Given the description of an element on the screen output the (x, y) to click on. 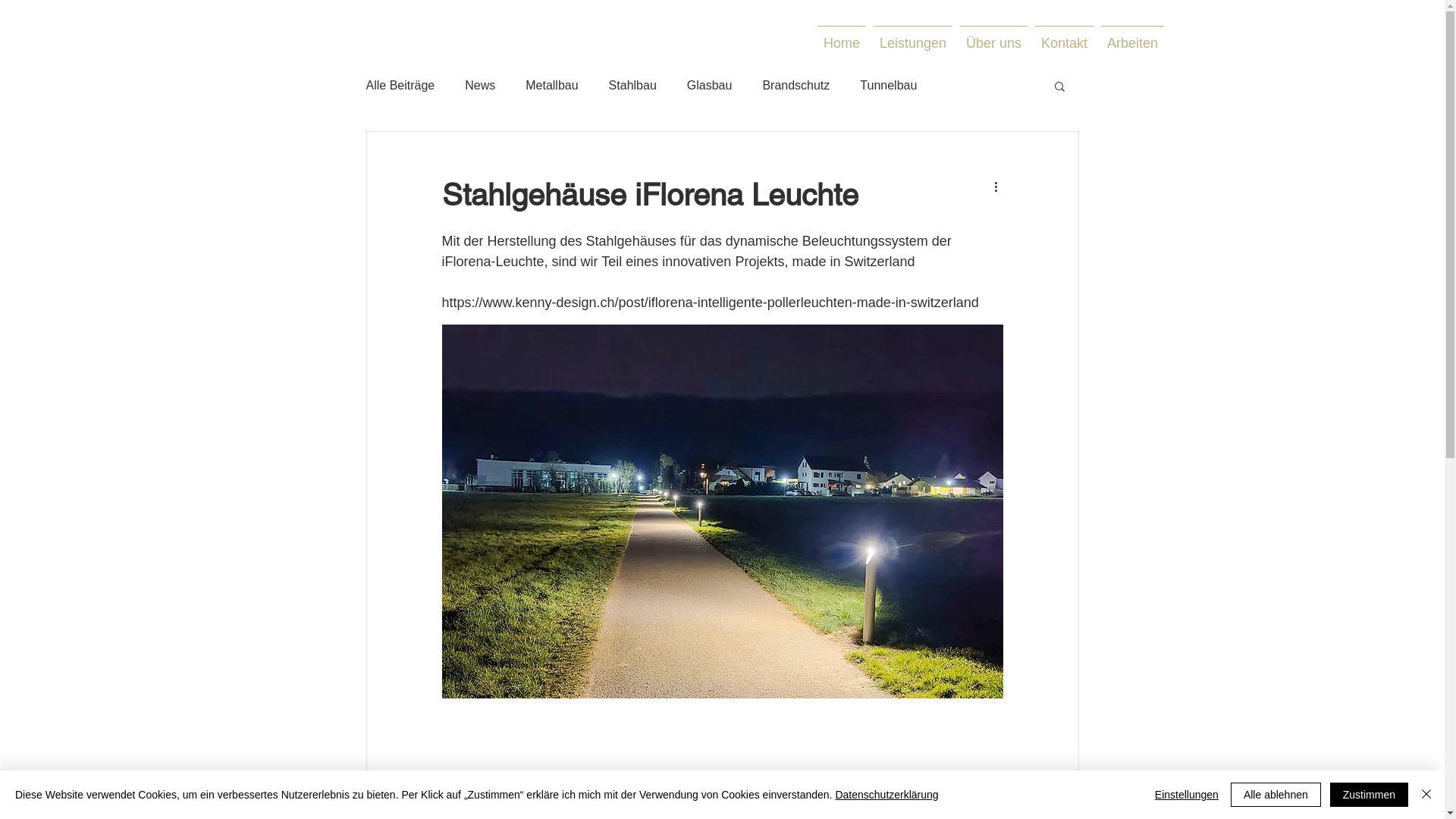
Arbeiten Element type: text (1132, 36)
Leistungen Element type: text (912, 36)
Kontakt Element type: text (1064, 36)
Stahlbau Element type: text (632, 85)
News Element type: text (479, 85)
Home Element type: text (841, 36)
Tunnelbau Element type: text (887, 85)
Glasbau Element type: text (709, 85)
Brandschutz Element type: text (795, 85)
Zustimmen Element type: text (1369, 794)
Metallbau Element type: text (551, 85)
Alle ablehnen Element type: text (1275, 794)
